Given the description of an element on the screen output the (x, y) to click on. 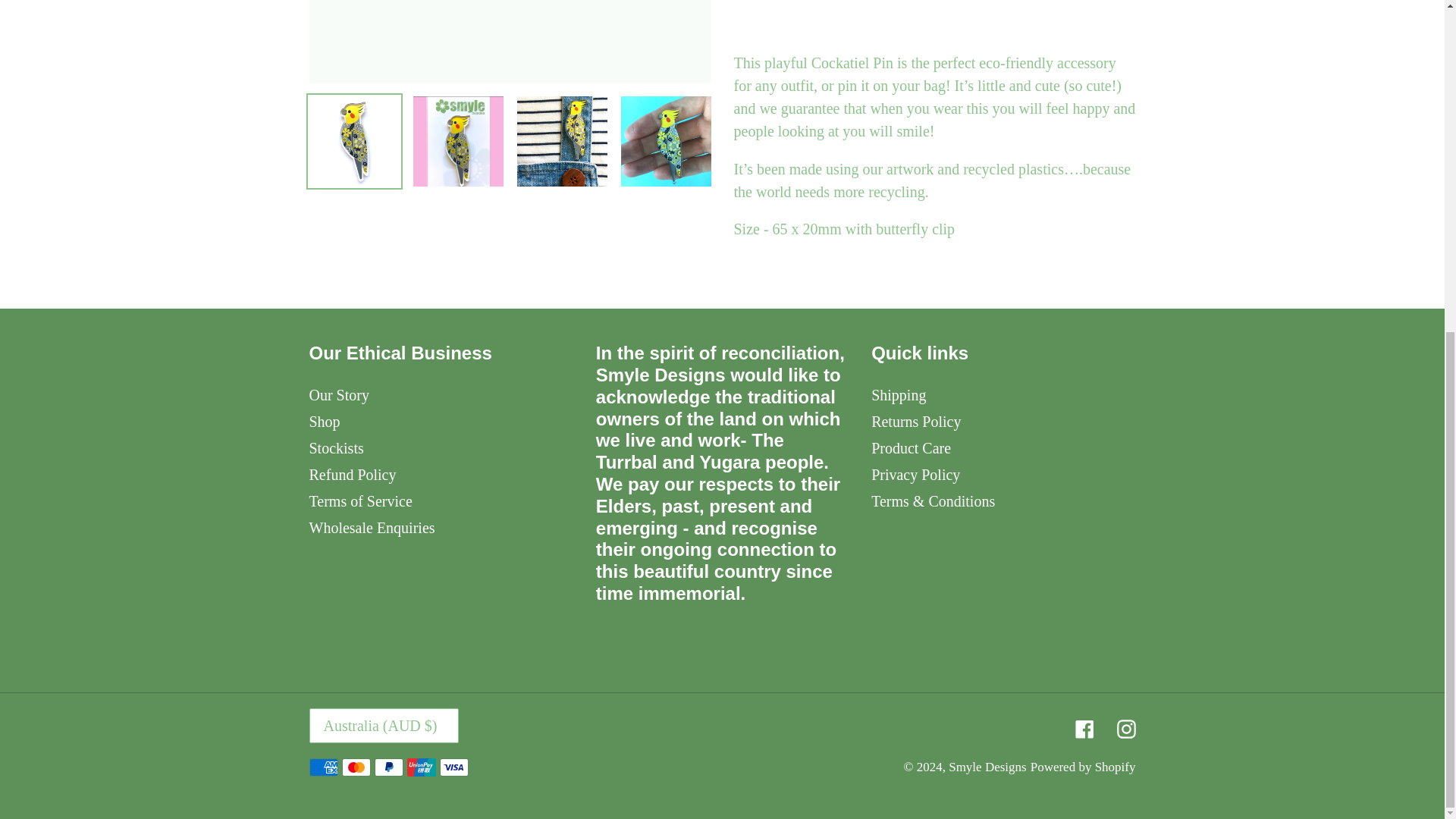
Stockists (336, 447)
Our Story (338, 394)
Wholesale Enquiries (371, 527)
Returns Policy (915, 421)
Shipping (898, 394)
Refund Policy (352, 474)
Shop (324, 421)
Product Care (910, 447)
Terms of Service (360, 501)
Privacy Policy (914, 474)
